Given the description of an element on the screen output the (x, y) to click on. 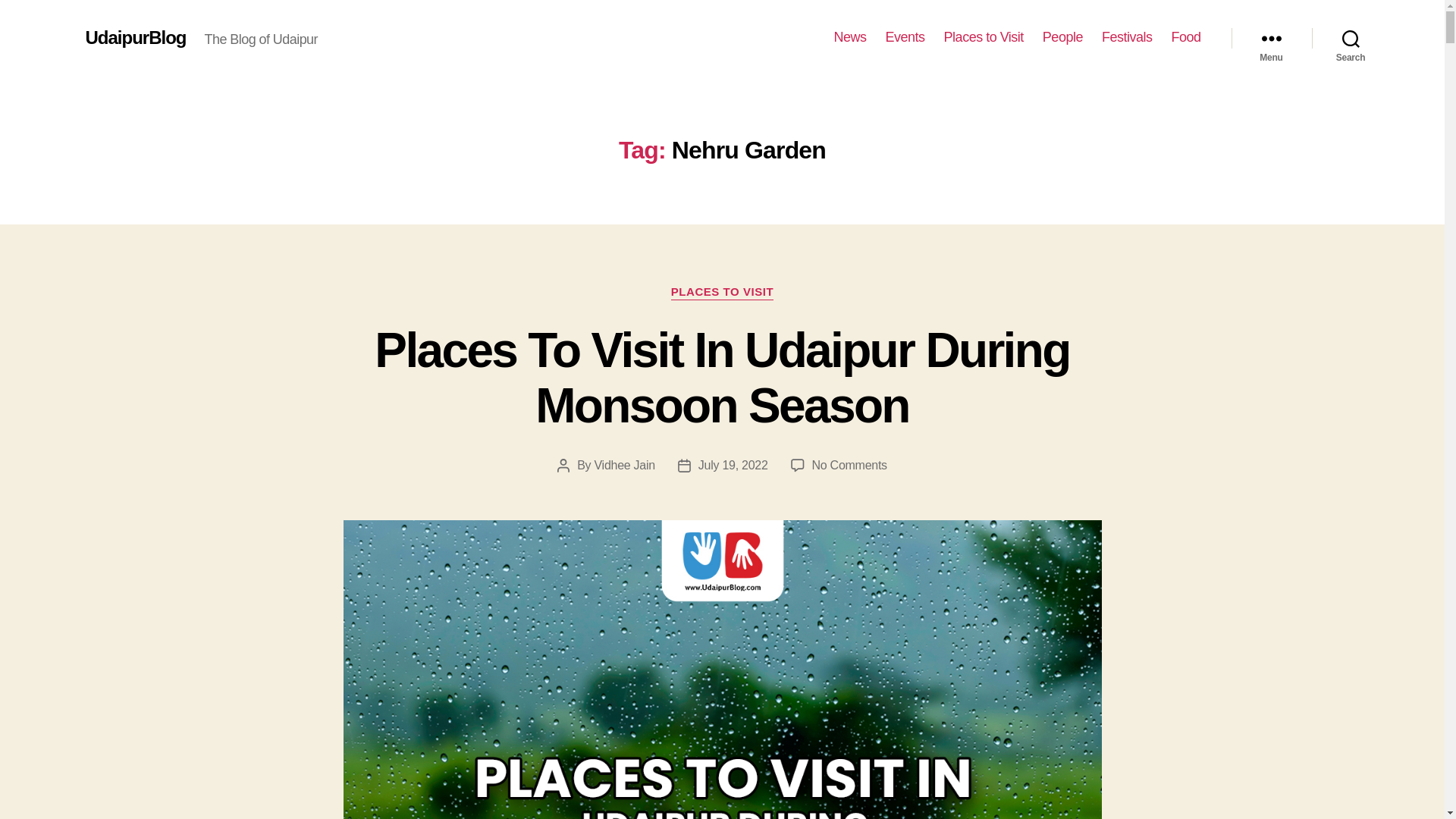
Festivals (1127, 37)
News (850, 37)
Search (1350, 37)
July 19, 2022 (733, 464)
UdaipurBlog (135, 37)
Places To Visit In Udaipur During Monsoon Season (721, 377)
Food (1184, 37)
Menu (1271, 37)
Places to Visit (983, 37)
Vidhee Jain (624, 464)
